Given the description of an element on the screen output the (x, y) to click on. 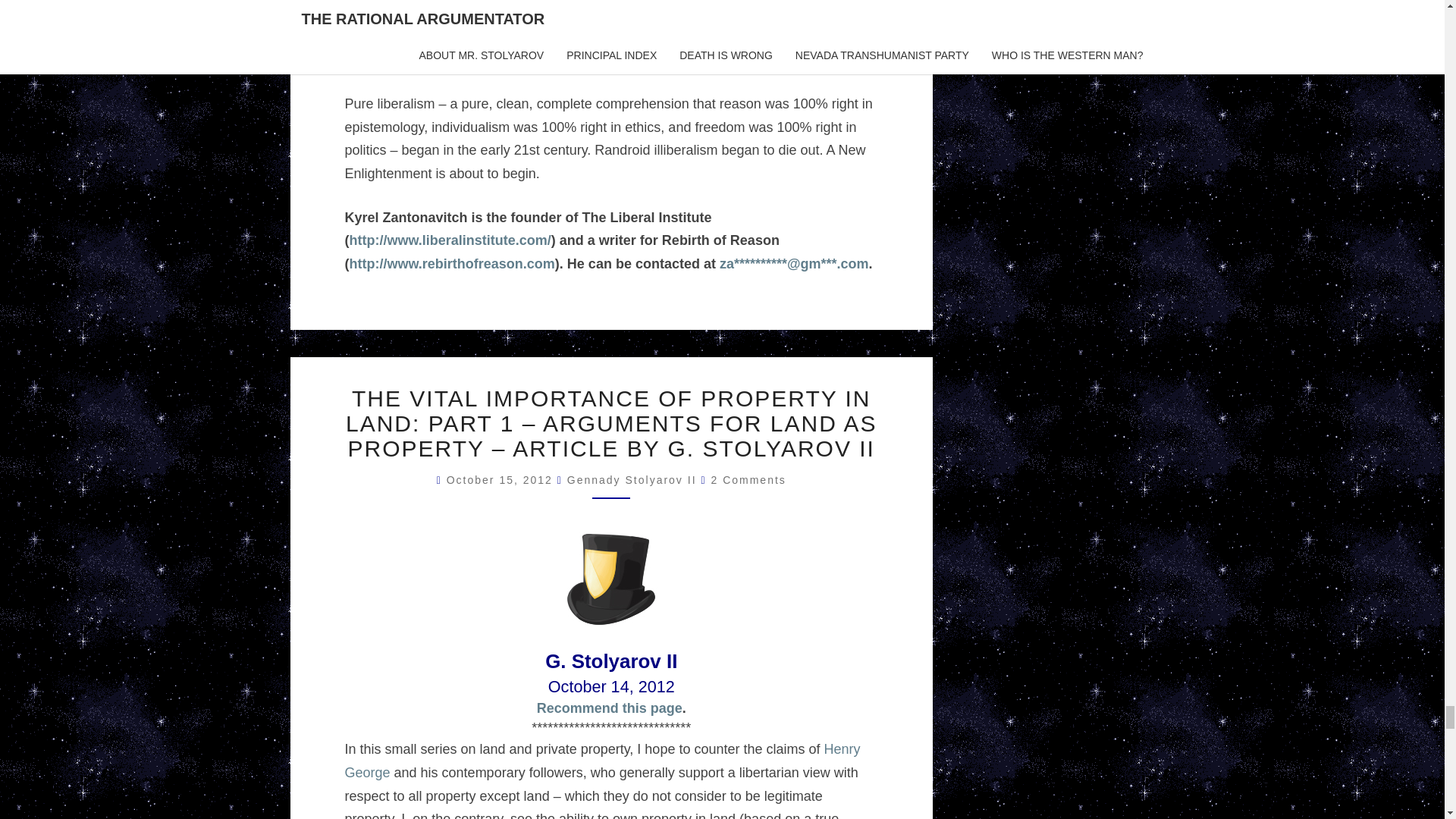
4:25 AM (501, 480)
View all posts by Gennady Stolyarov II (632, 480)
